Given the description of an element on the screen output the (x, y) to click on. 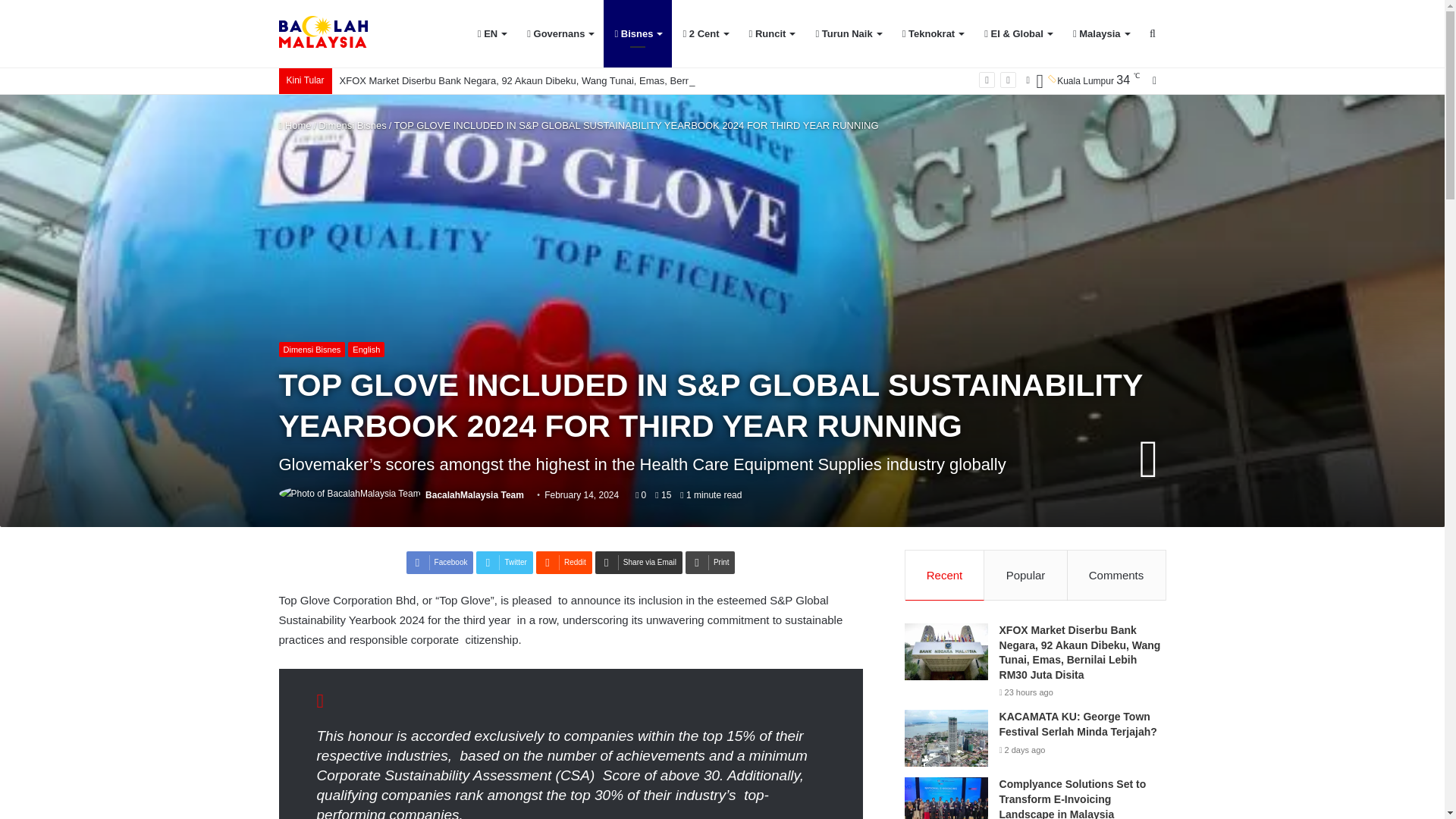
Facebook (440, 562)
BacalahMalaysia Team (474, 494)
BacalahMalaysia (323, 33)
Twitter (504, 562)
Governans (560, 33)
Reddit (563, 562)
Dimensi Bisnes (352, 125)
Home (295, 125)
English (365, 349)
2 Cent (704, 33)
Scattered Clouds (1080, 80)
Turun Naik (848, 33)
Bisnes (637, 33)
Share via Email (638, 562)
Runcit (771, 33)
